Given the description of an element on the screen output the (x, y) to click on. 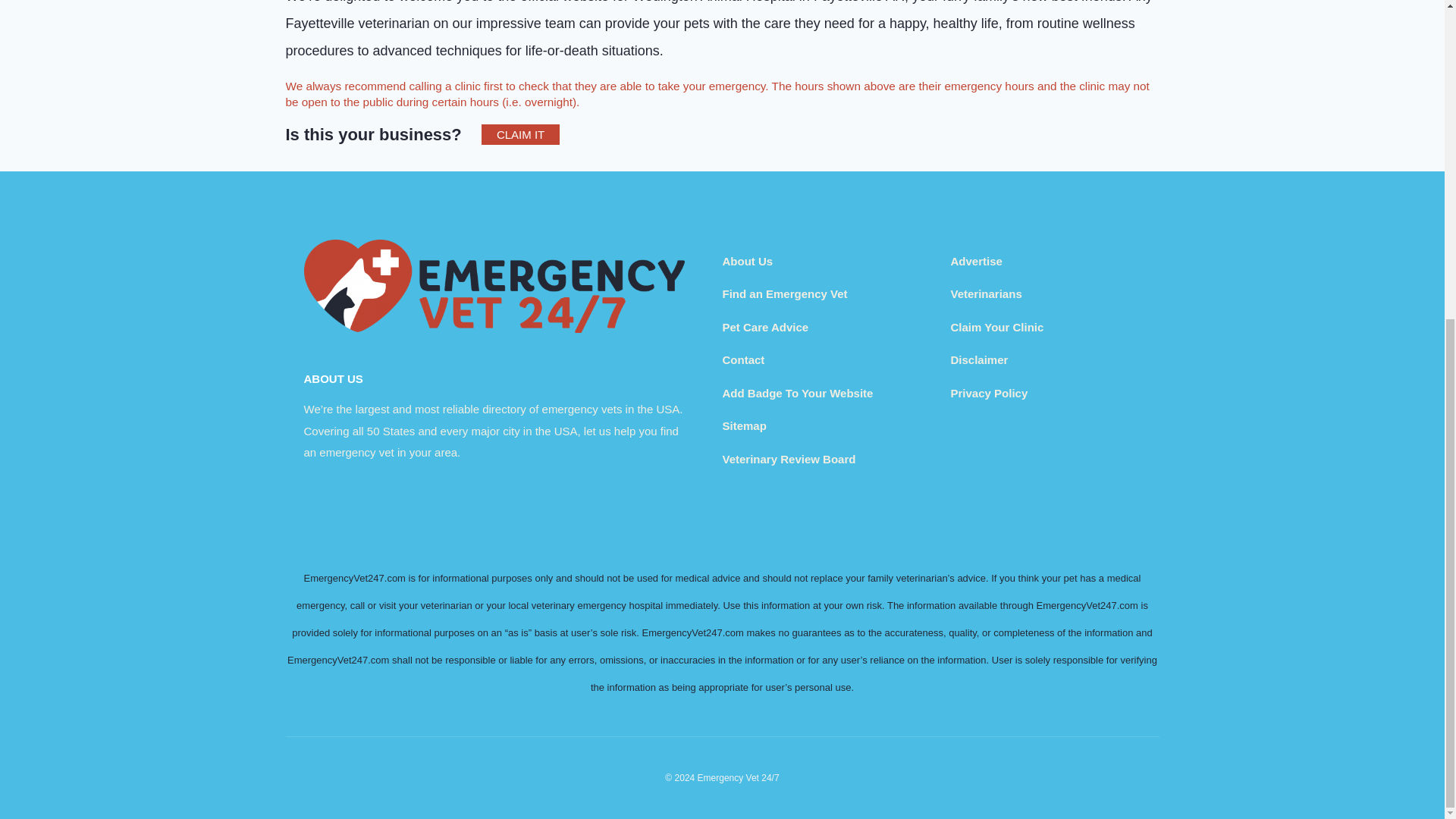
Add Badge To Your Website (797, 392)
Pet Care Advice (765, 327)
Contact (743, 359)
Veterinarians (986, 293)
Veterinary Review Board (789, 459)
Claim Your Clinic (996, 327)
Find an Emergency Vet (784, 293)
Sitemap (743, 425)
Privacy Policy (988, 392)
Disclaimer (979, 359)
About Us (747, 260)
CLAIM IT (520, 134)
Advertise (976, 260)
